Given the description of an element on the screen output the (x, y) to click on. 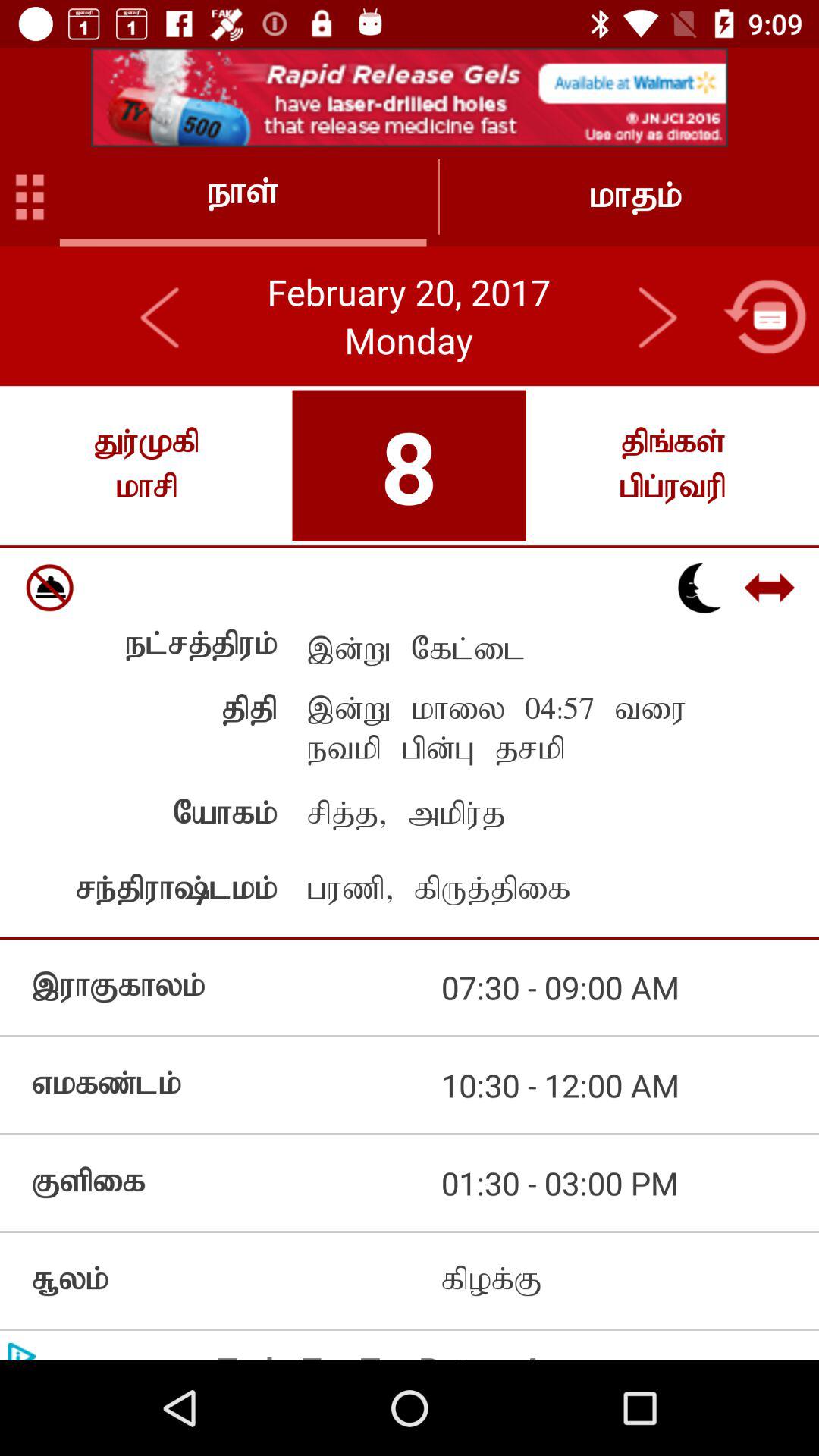
go to next (656, 316)
